Given the description of an element on the screen output the (x, y) to click on. 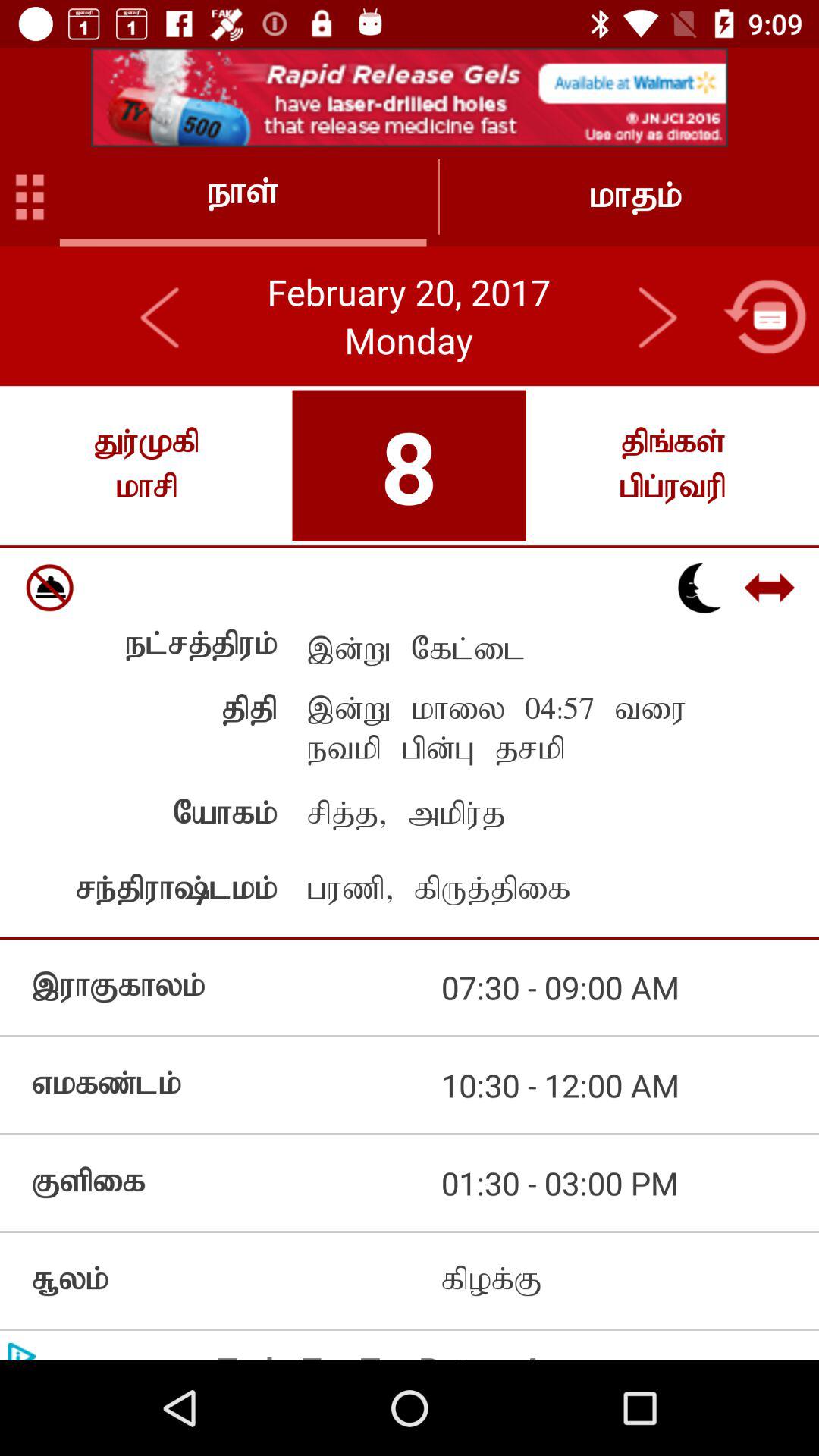
go to next (656, 316)
